Given the description of an element on the screen output the (x, y) to click on. 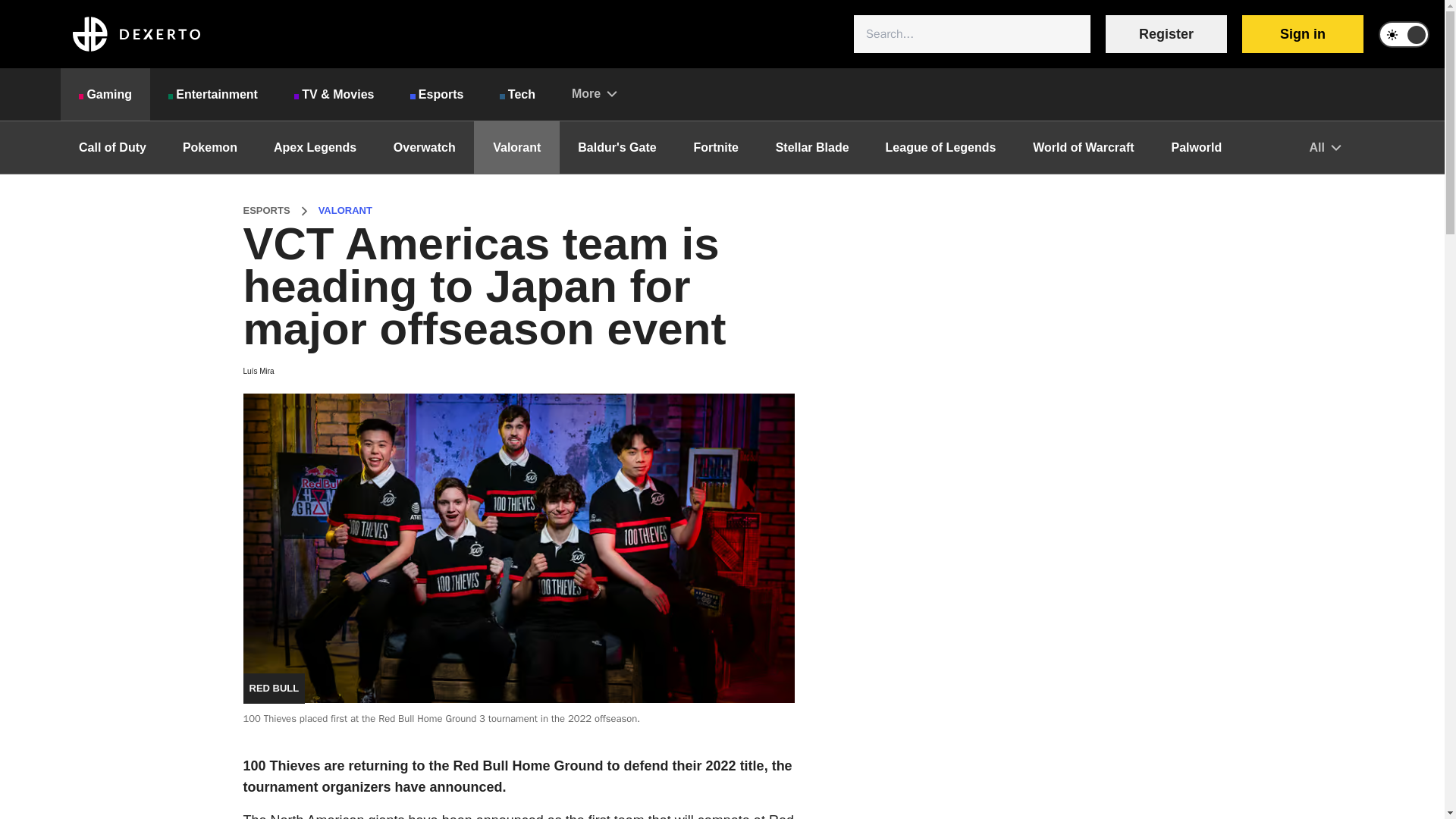
Esports (436, 93)
World of Warcraft (1083, 147)
Fortnite (716, 147)
Palworld (1196, 147)
Pokemon (210, 147)
Entertainment (212, 93)
Overwatch (424, 147)
Sign in (1301, 34)
Apex Legends (315, 147)
Call of Duty (112, 147)
